Given the description of an element on the screen output the (x, y) to click on. 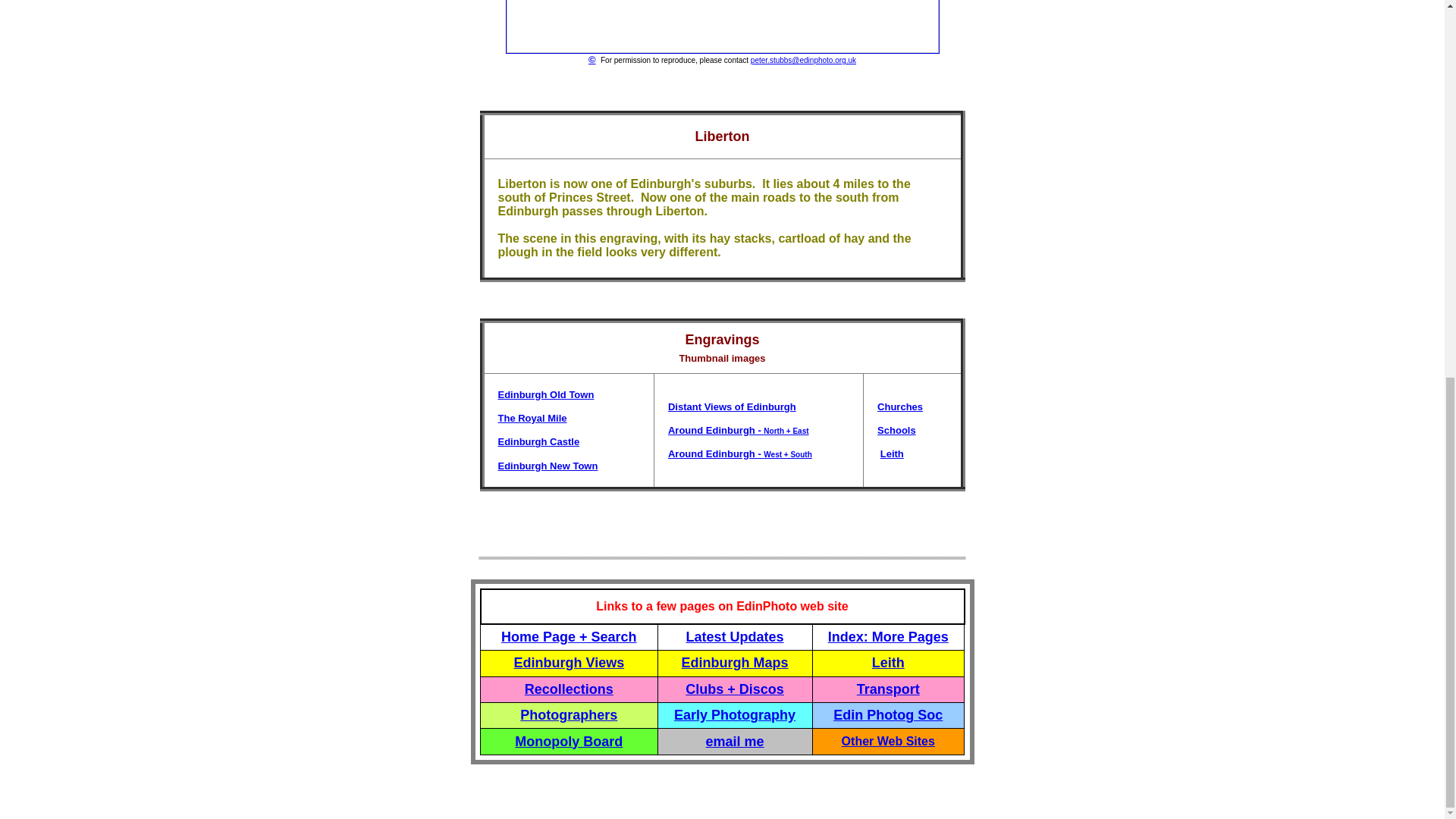
Latest Updates (734, 636)
Leith (892, 453)
Edinburgh Old Town (545, 394)
Index: More Pages (888, 636)
Edinburgh New Town (546, 465)
Churches (900, 406)
Schools (896, 430)
Edinburgh Views (568, 662)
The Royal Mile (531, 418)
Edinburgh Castle (538, 441)
